Given the description of an element on the screen output the (x, y) to click on. 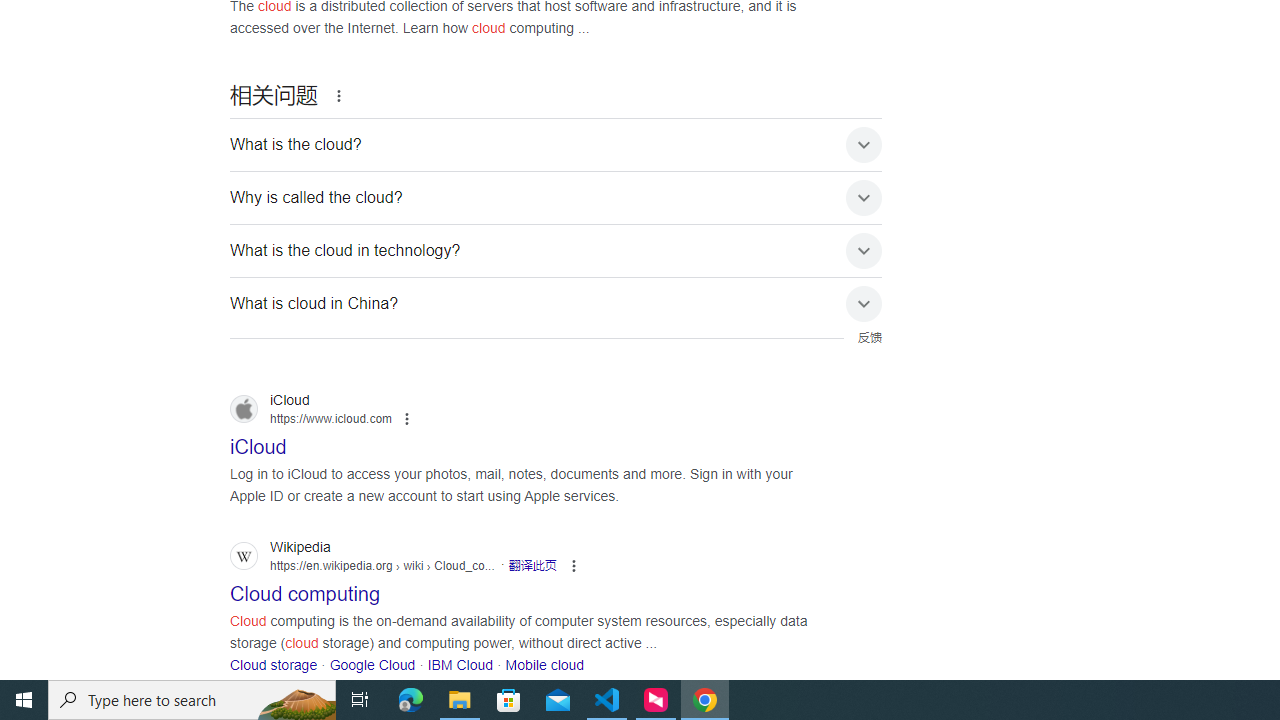
Mobile cloud (544, 664)
 iCloud iCloud https://www.icloud.com (258, 441)
IBM Cloud (460, 664)
What is cloud in China? (555, 304)
Why is called the cloud? (555, 198)
Google Cloud (372, 664)
What is the cloud in technology? (555, 250)
Cloud storage (273, 664)
What is the cloud? (555, 145)
